Given the description of an element on the screen output the (x, y) to click on. 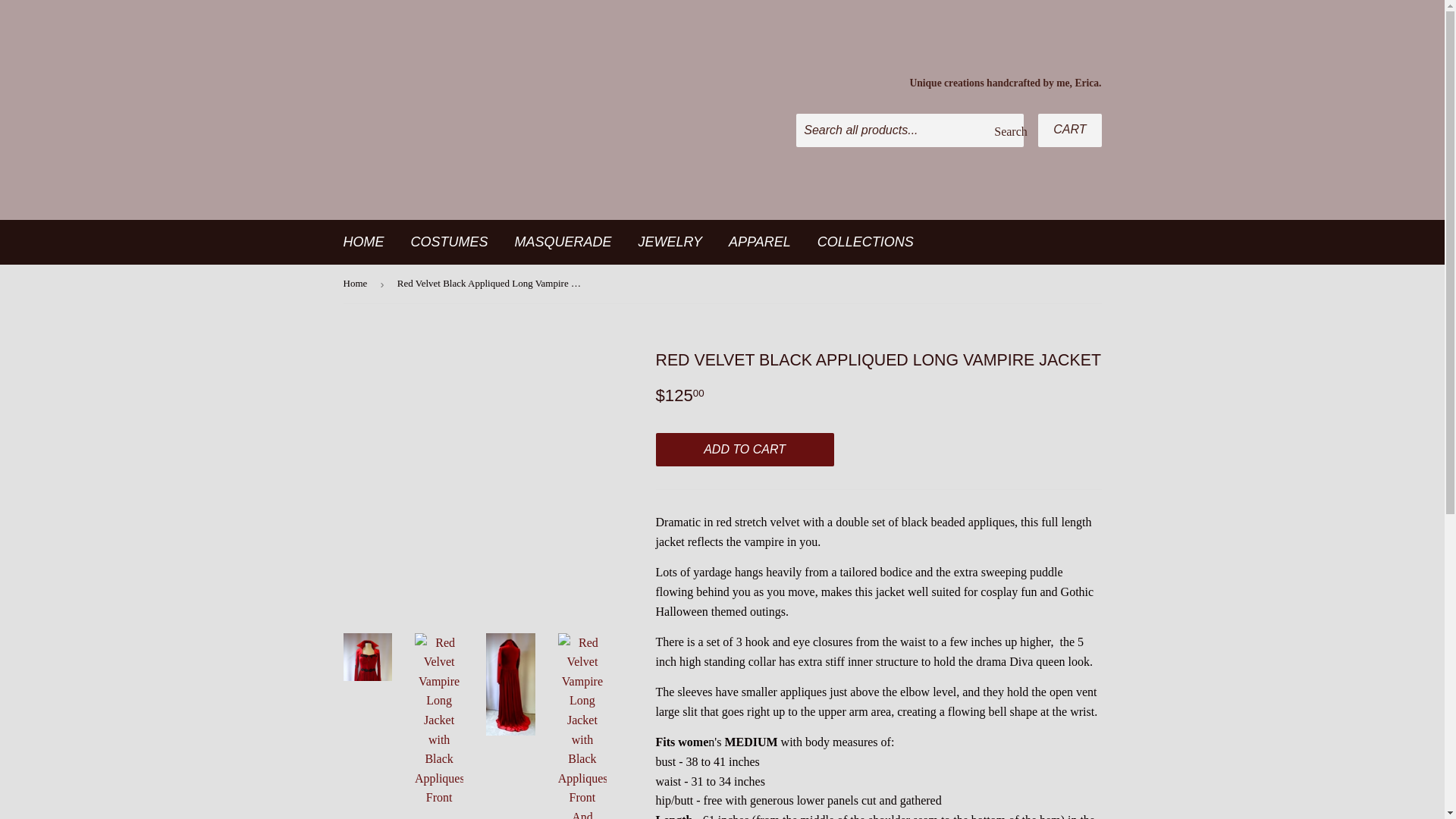
ADD TO CART (743, 449)
Unique creations handcrafted by me, Erica. (1004, 83)
COSTUMES (448, 242)
CART (1069, 130)
HOME (363, 242)
JEWELRY (670, 242)
COLLECTIONS (865, 242)
MASQUERADE (563, 242)
Search (1006, 131)
APPAREL (759, 242)
